Given the description of an element on the screen output the (x, y) to click on. 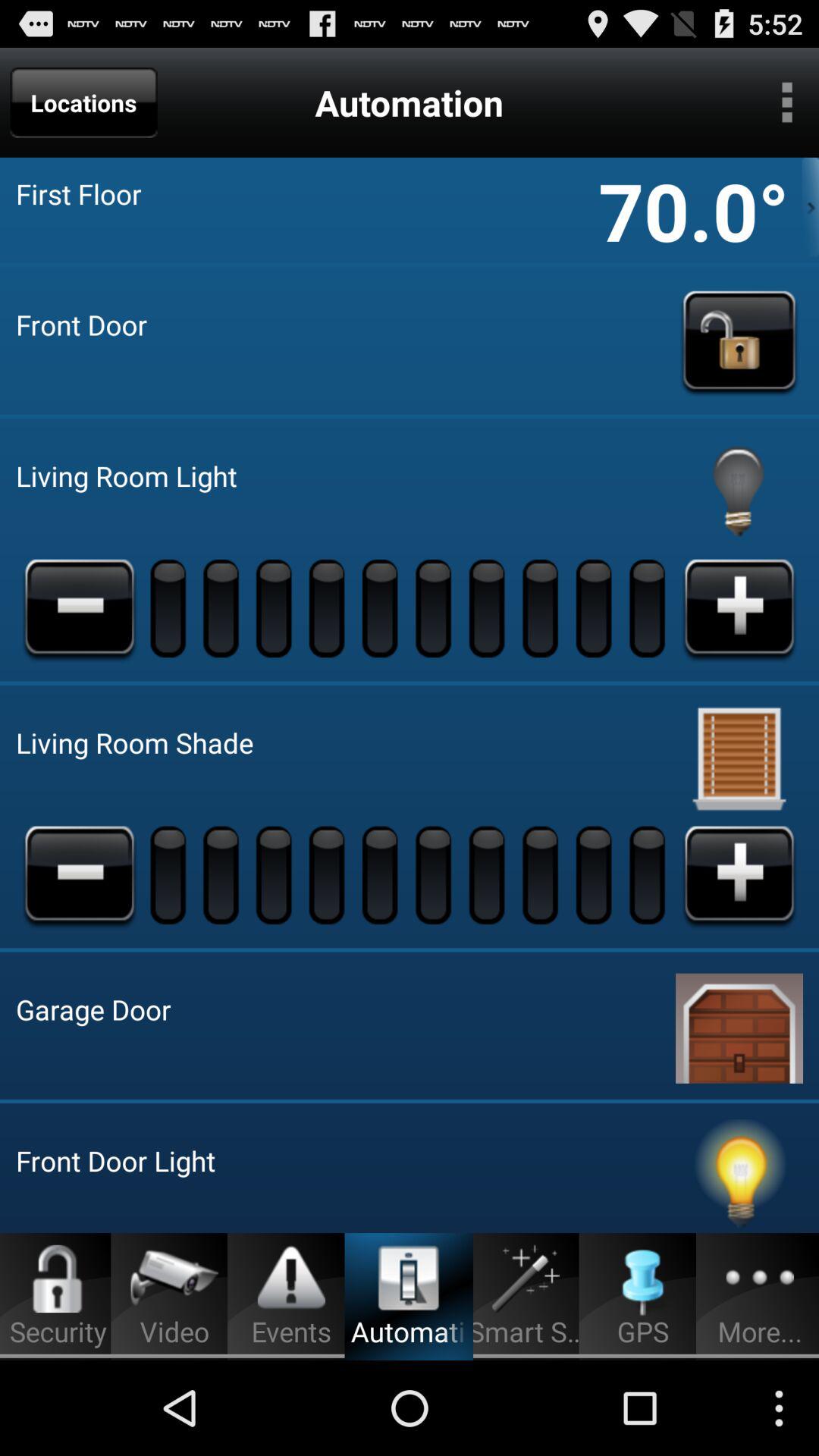
open garage door (739, 1025)
